Given the description of an element on the screen output the (x, y) to click on. 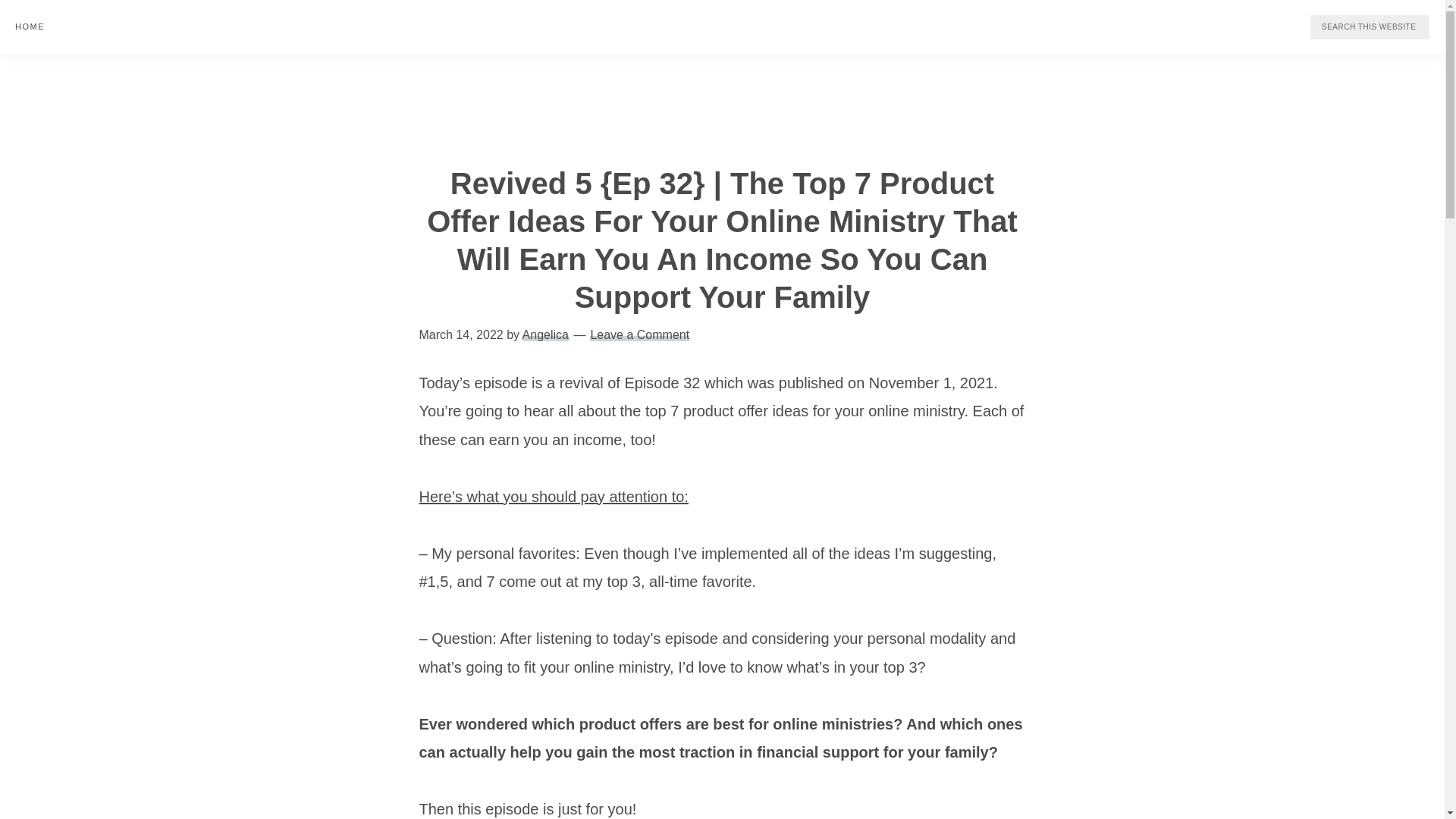
HOME (29, 26)
Leave a Comment (638, 333)
Angelica (545, 333)
